Given the description of an element on the screen output the (x, y) to click on. 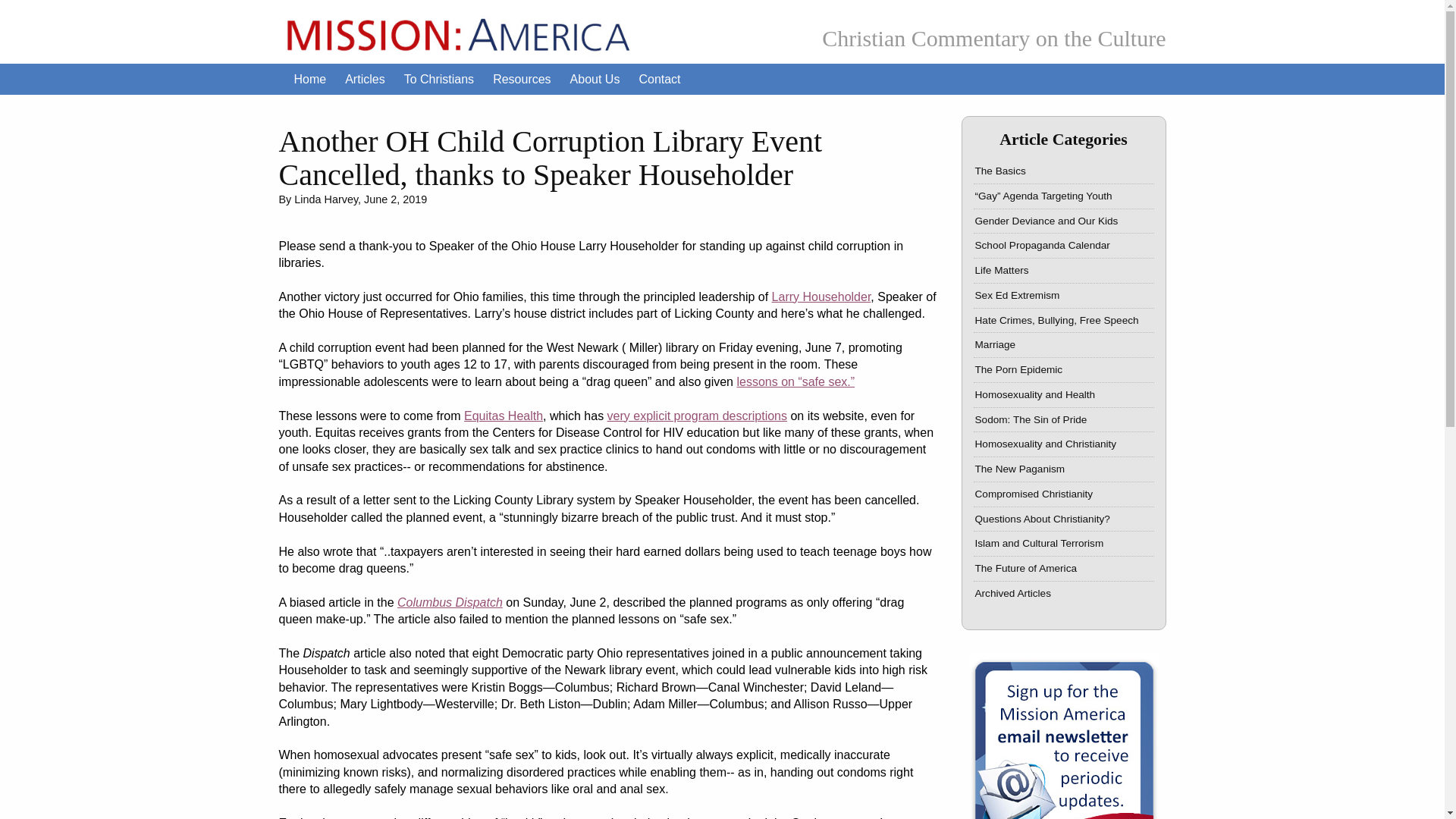
Home (310, 79)
Larry Householder (820, 296)
Columbus Dispatch (449, 602)
To Christians (438, 79)
Resources (520, 79)
very explicit program descriptions (697, 415)
Equitas Health (503, 415)
About Us (594, 79)
Contact (658, 79)
Articles (364, 79)
